Given the description of an element on the screen output the (x, y) to click on. 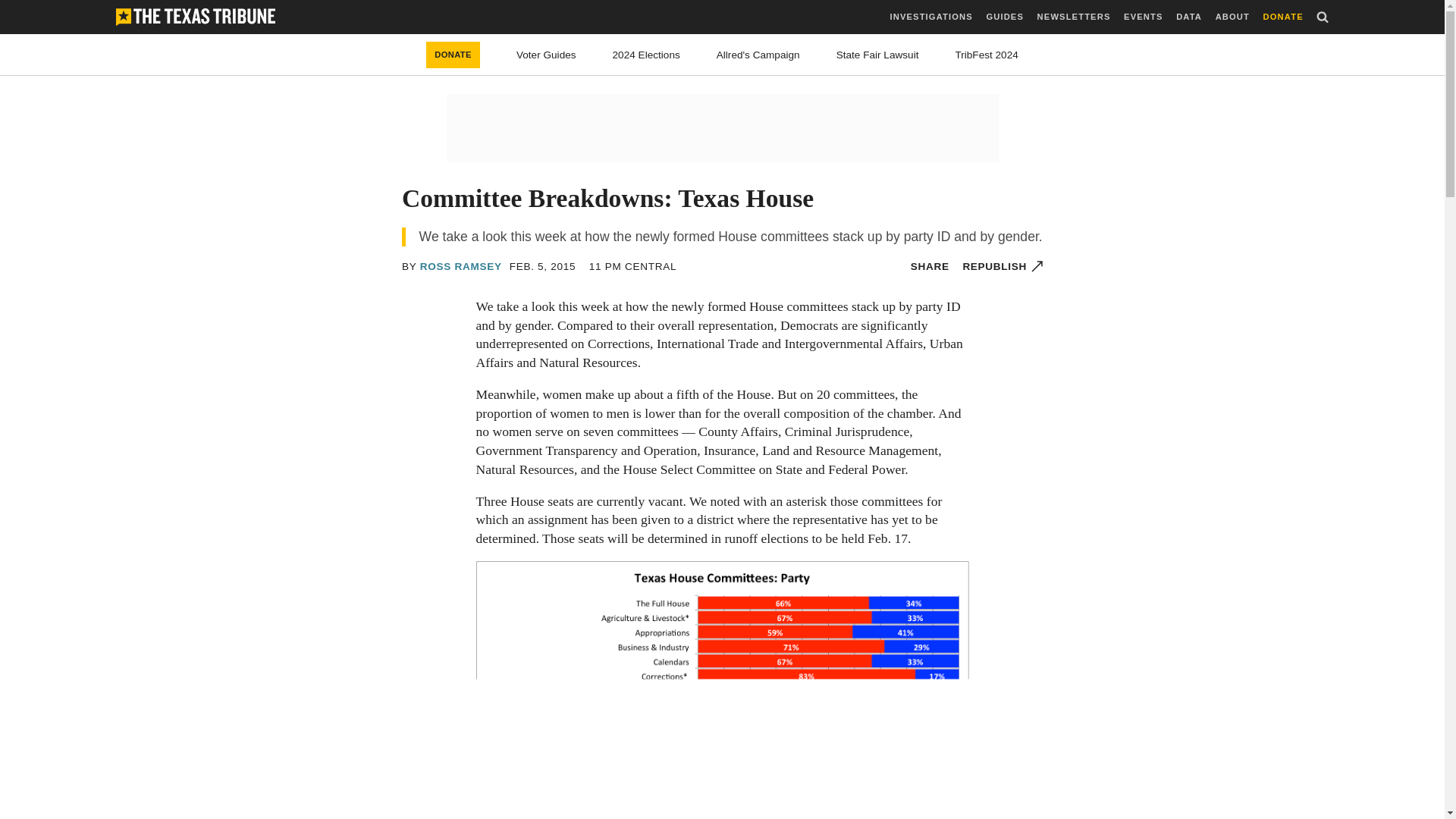
TribFest 2024 (986, 54)
Voter Guides (546, 54)
2015-02-05 23:00 CST (542, 266)
GUIDES (1004, 17)
2024 Elections (645, 54)
Allred's Campaign (757, 54)
NEWSLETTERS (1073, 17)
State Fair Lawsuit (876, 54)
INVESTIGATIONS (930, 17)
2015-02-05 23:00 CST (633, 266)
